Given the description of an element on the screen output the (x, y) to click on. 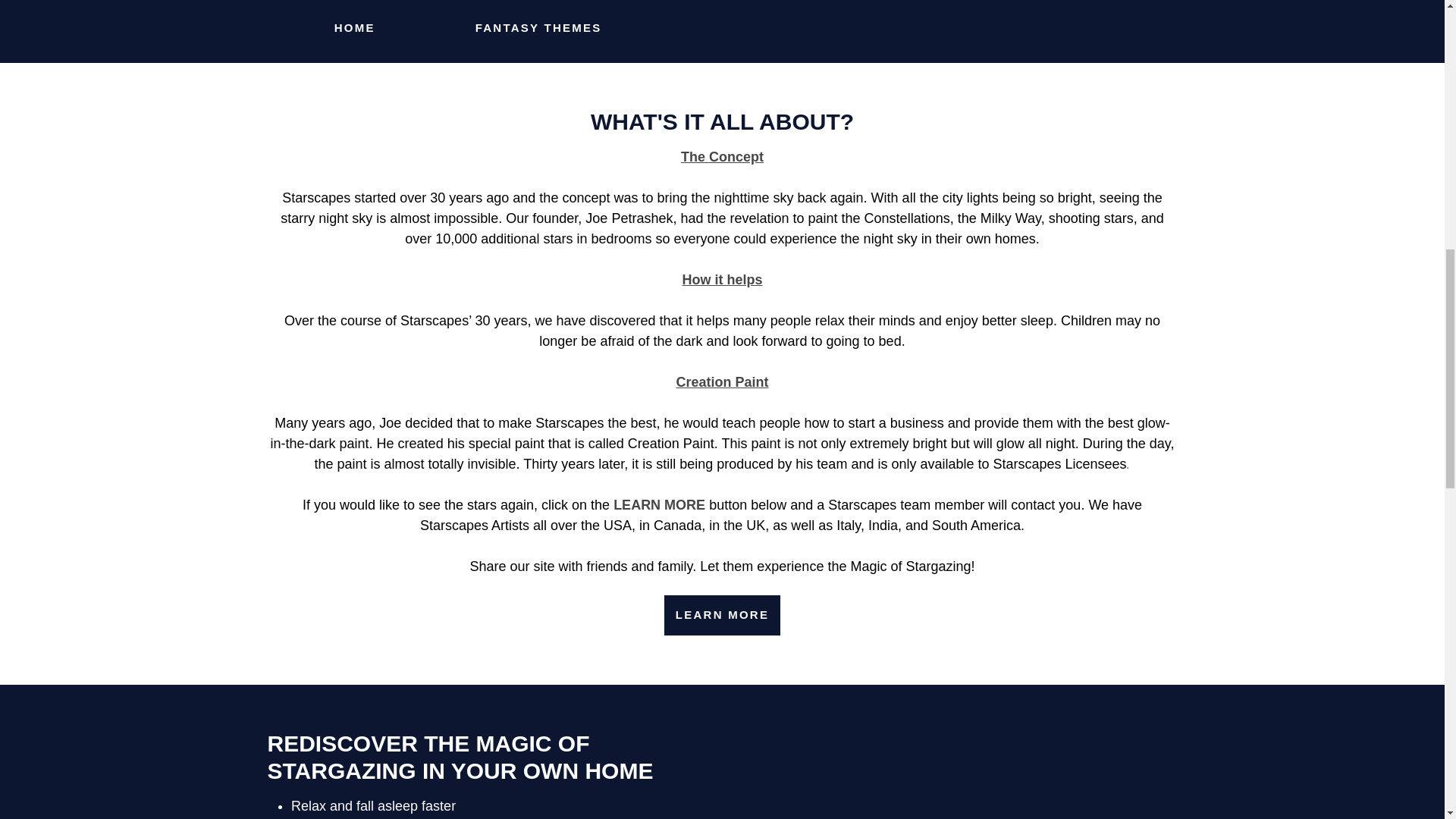
HOME (355, 27)
LEARN MORE (721, 615)
FANTASY THEMES (538, 27)
